Given the description of an element on the screen output the (x, y) to click on. 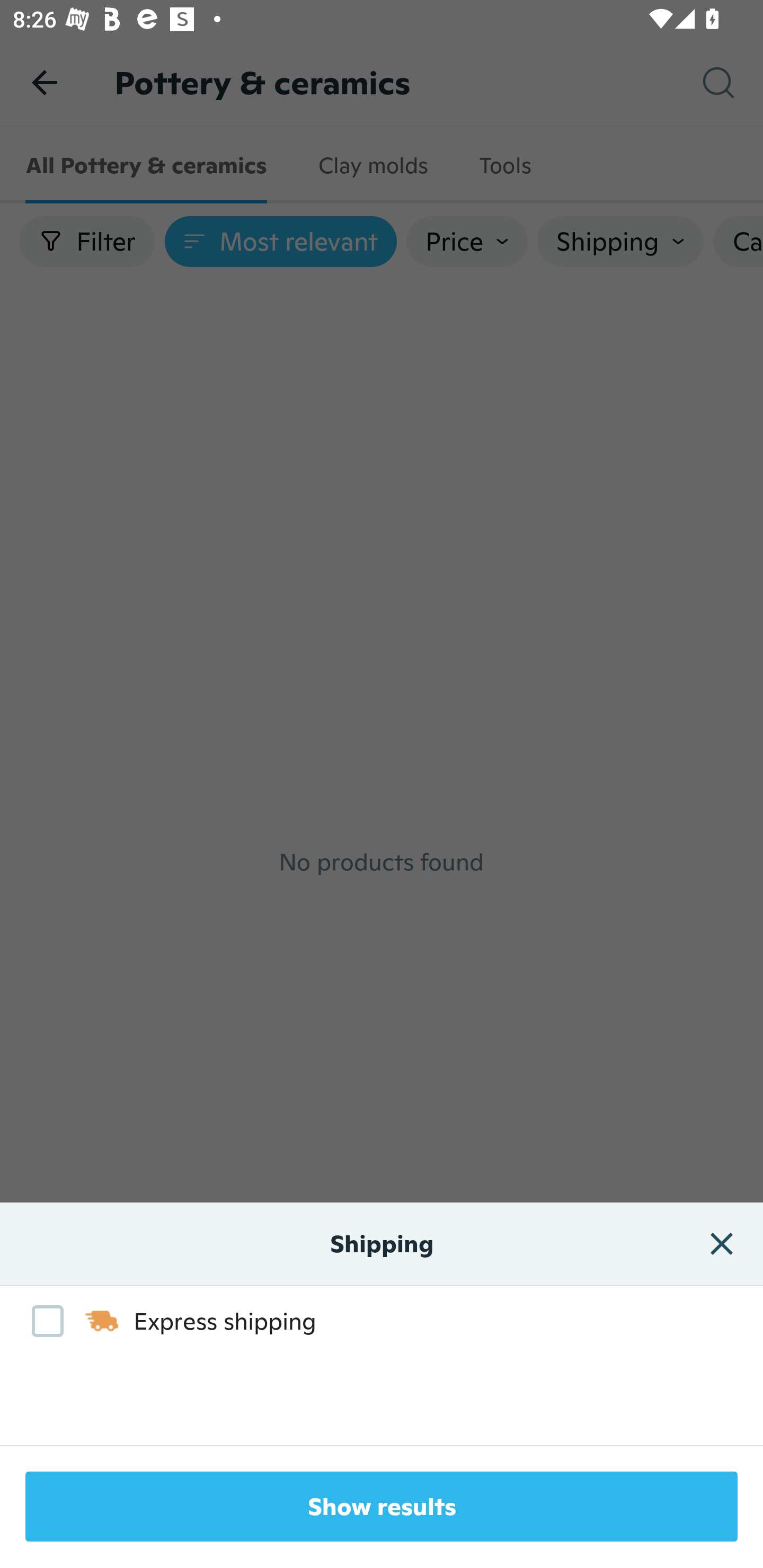
Express shipping (164, 1320)
Show results (381, 1506)
